Given the description of an element on the screen output the (x, y) to click on. 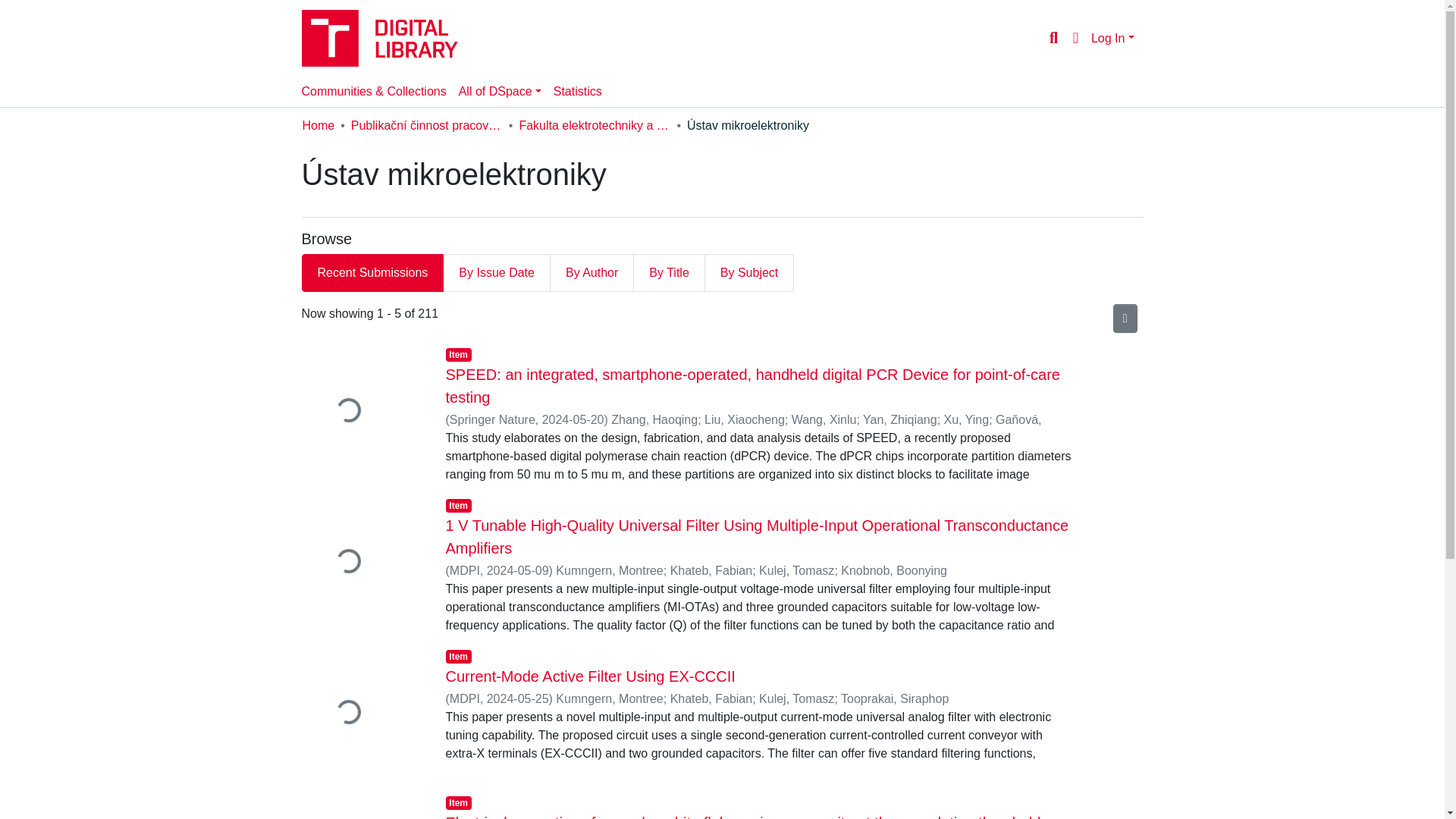
Current-Mode Active Filter Using EX-CCCII (590, 676)
Statistics (577, 91)
Loading... (362, 562)
Search (1052, 37)
All of DSpace (499, 91)
Home (317, 126)
By Issue Date (497, 272)
By Title (668, 272)
Statistics (577, 91)
Language switch (1074, 37)
By Author (591, 272)
By Subject (748, 272)
Recent Submissions (372, 272)
Loading... (362, 806)
